Given the description of an element on the screen output the (x, y) to click on. 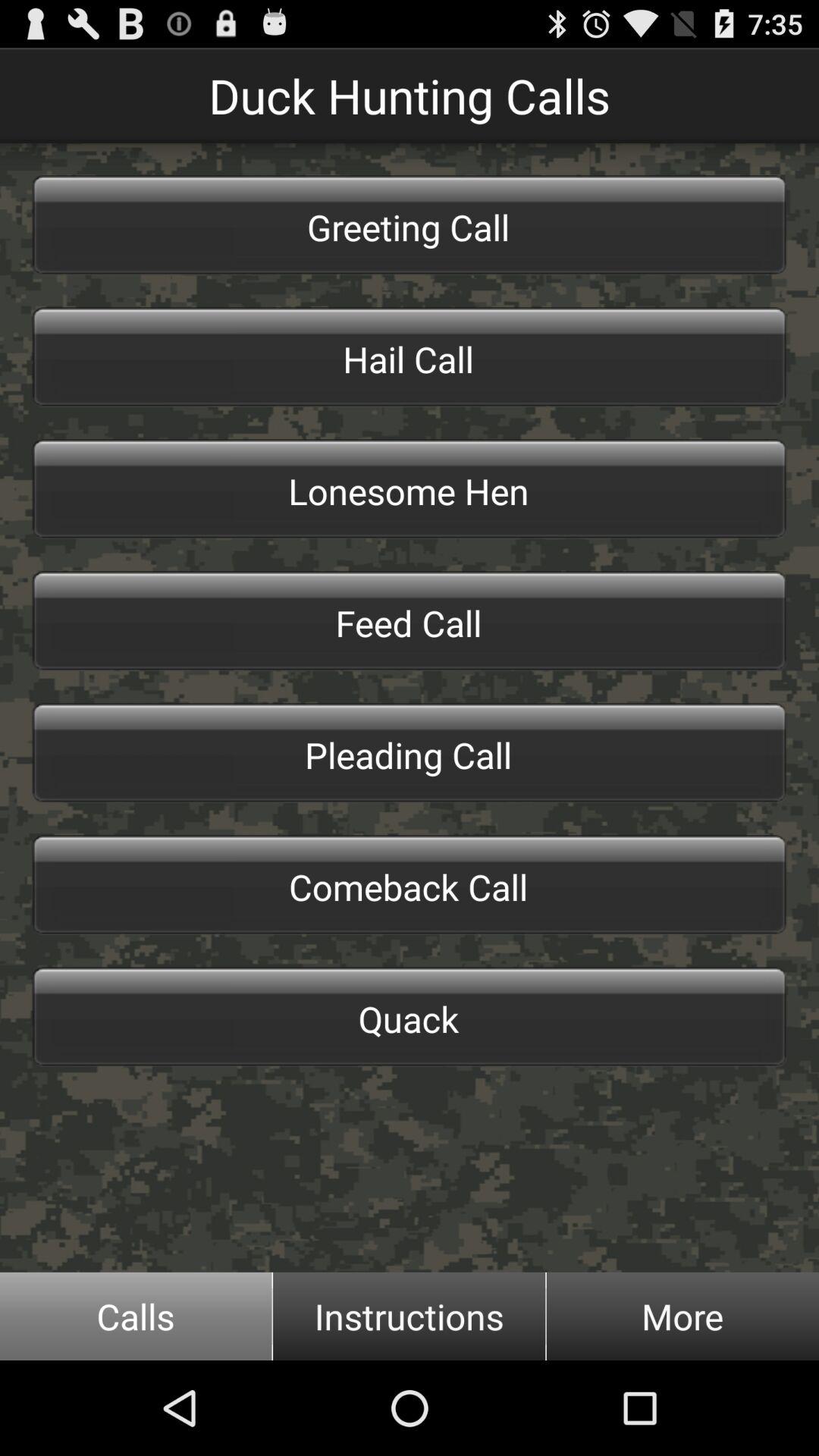
select the item above the hail call (409, 225)
